Given the description of an element on the screen output the (x, y) to click on. 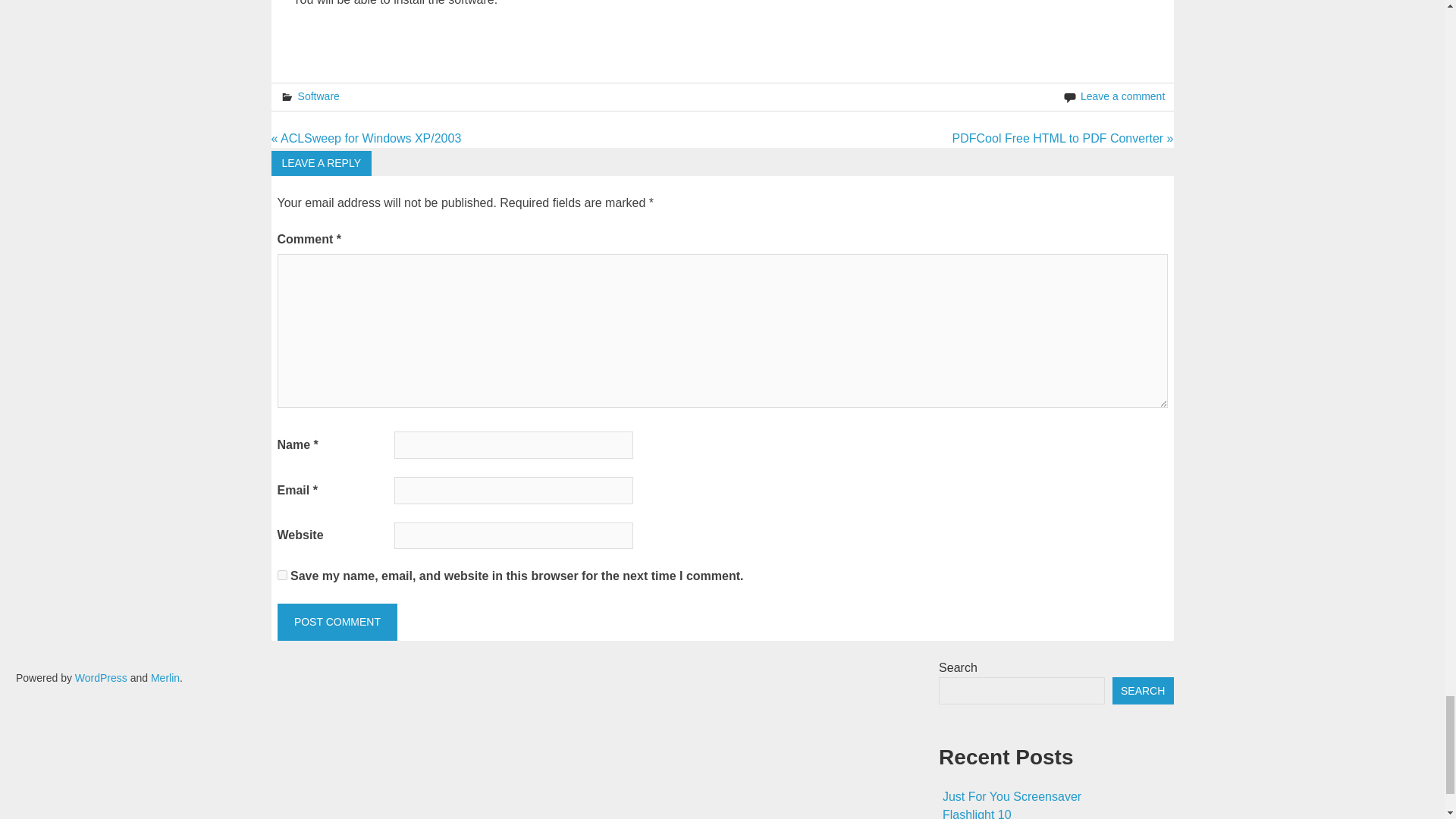
Post Comment (337, 621)
Software (318, 96)
Merlin (165, 677)
Merlin WordPress Theme (165, 677)
yes (282, 574)
Just For You Screensaver (1011, 796)
SEARCH (1142, 690)
WordPress (101, 677)
Flashlight 10 (976, 813)
Leave a comment (1122, 96)
WordPress (101, 677)
Post Comment (337, 621)
